Given the description of an element on the screen output the (x, y) to click on. 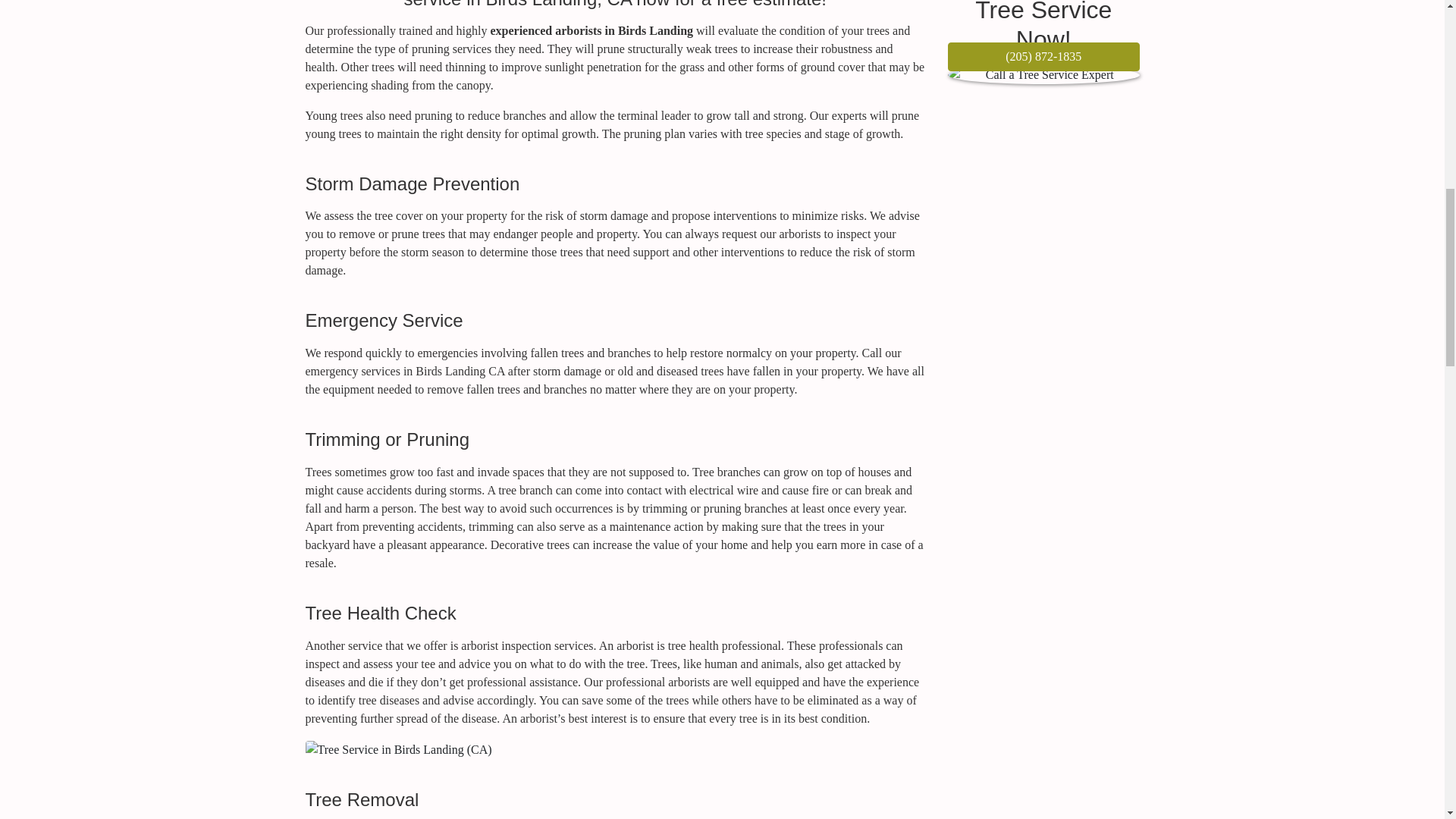
Tree Service (1043, 82)
Call an Tree Service Expert (1043, 56)
Call an Tree Service Expert (1043, 75)
